Given the description of an element on the screen output the (x, y) to click on. 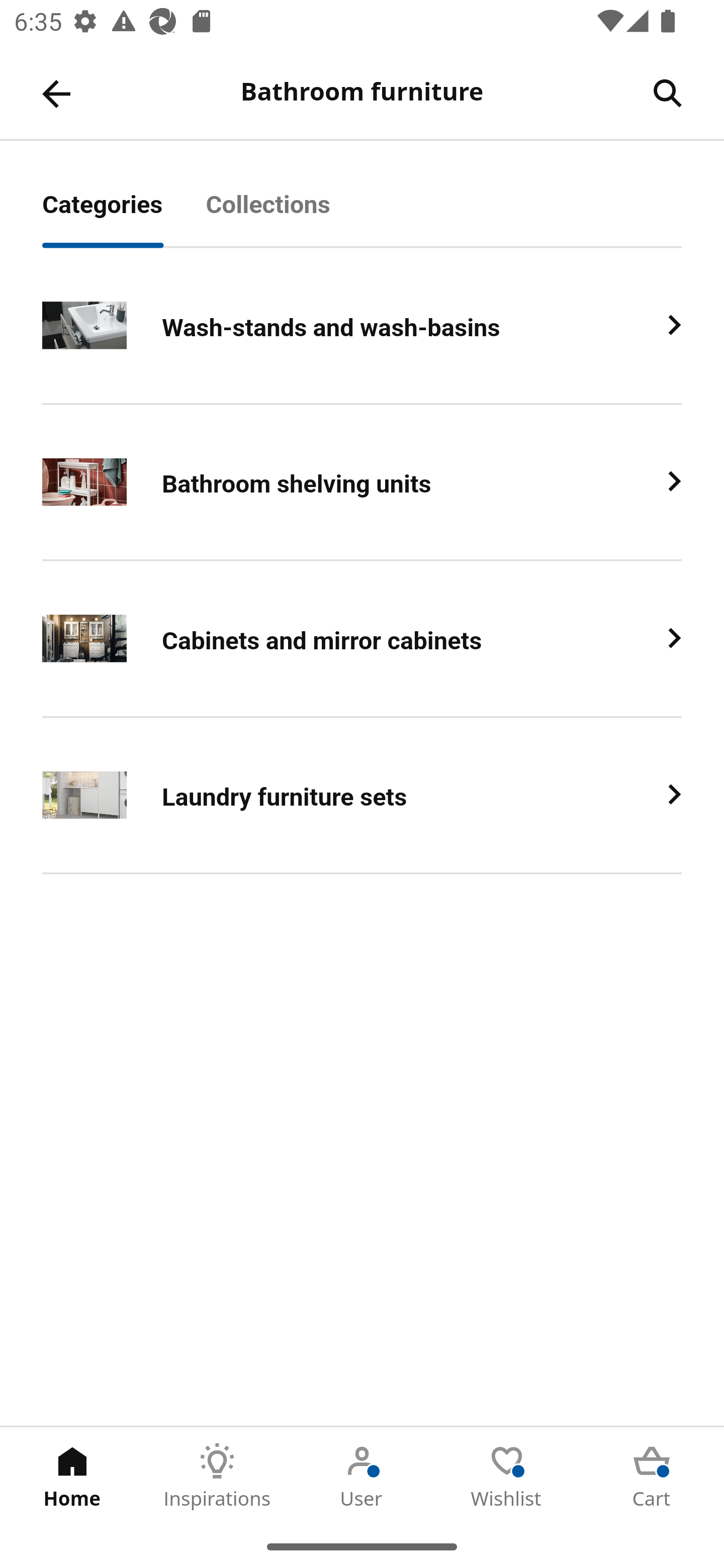
Categories
Tab 1 of 2 (123, 215)
Collections
Tab 2 of 2 (289, 215)
Wash-stands and wash-basins (361, 325)
Bathroom shelving units (361, 482)
Cabinets and mirror cabinets (361, 639)
Laundry furniture sets (361, 796)
Home
Tab 1 of 5 (72, 1476)
Inspirations
Tab 2 of 5 (216, 1476)
User
Tab 3 of 5 (361, 1476)
Wishlist
Tab 4 of 5 (506, 1476)
Cart
Tab 5 of 5 (651, 1476)
